Given the description of an element on the screen output the (x, y) to click on. 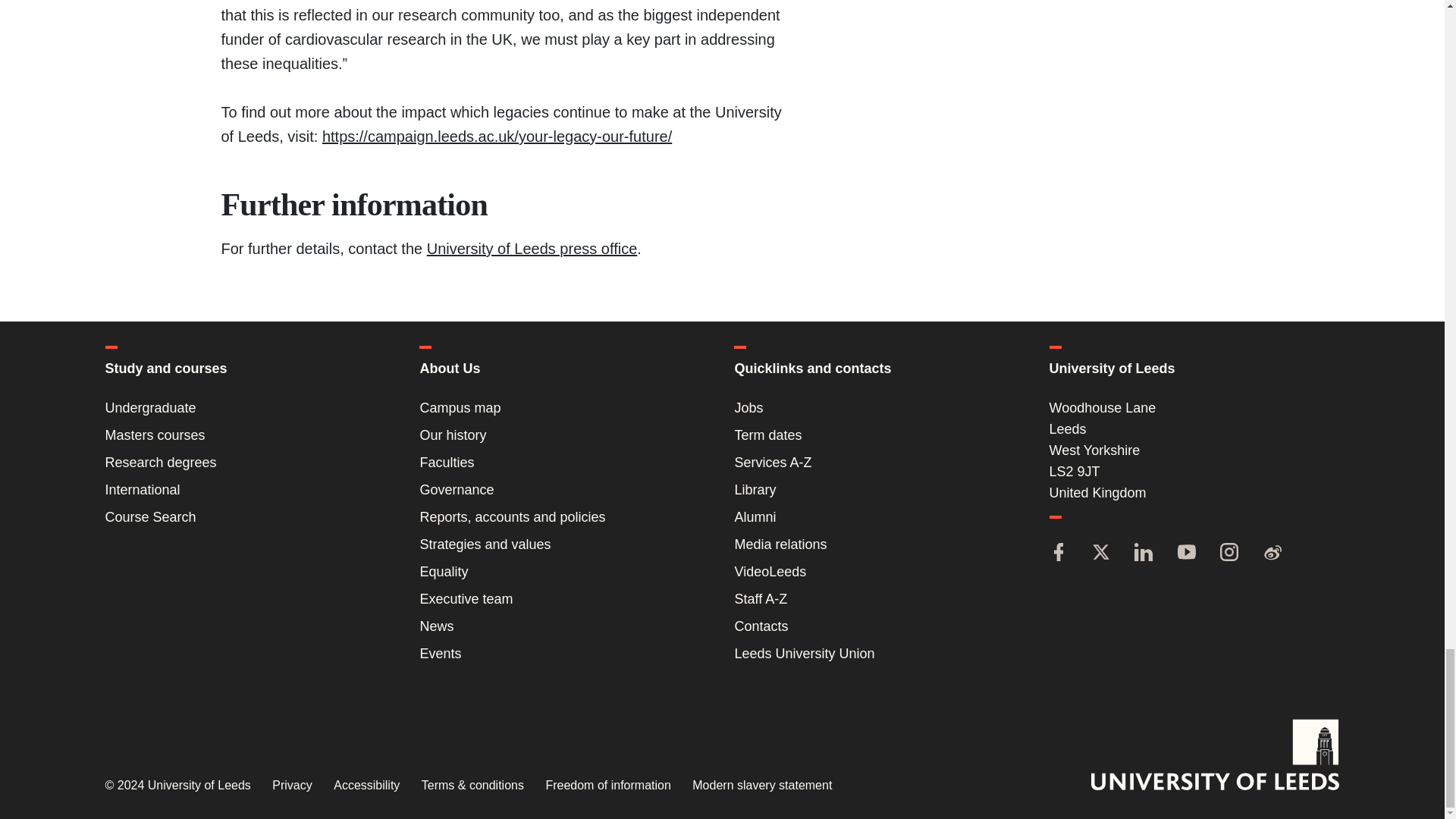
Go to Freedom of information page (606, 784)
Go to Modern slavery statement page (762, 784)
Go to Accessibility page (365, 784)
Go to Privacy page (291, 784)
